Given the description of an element on the screen output the (x, y) to click on. 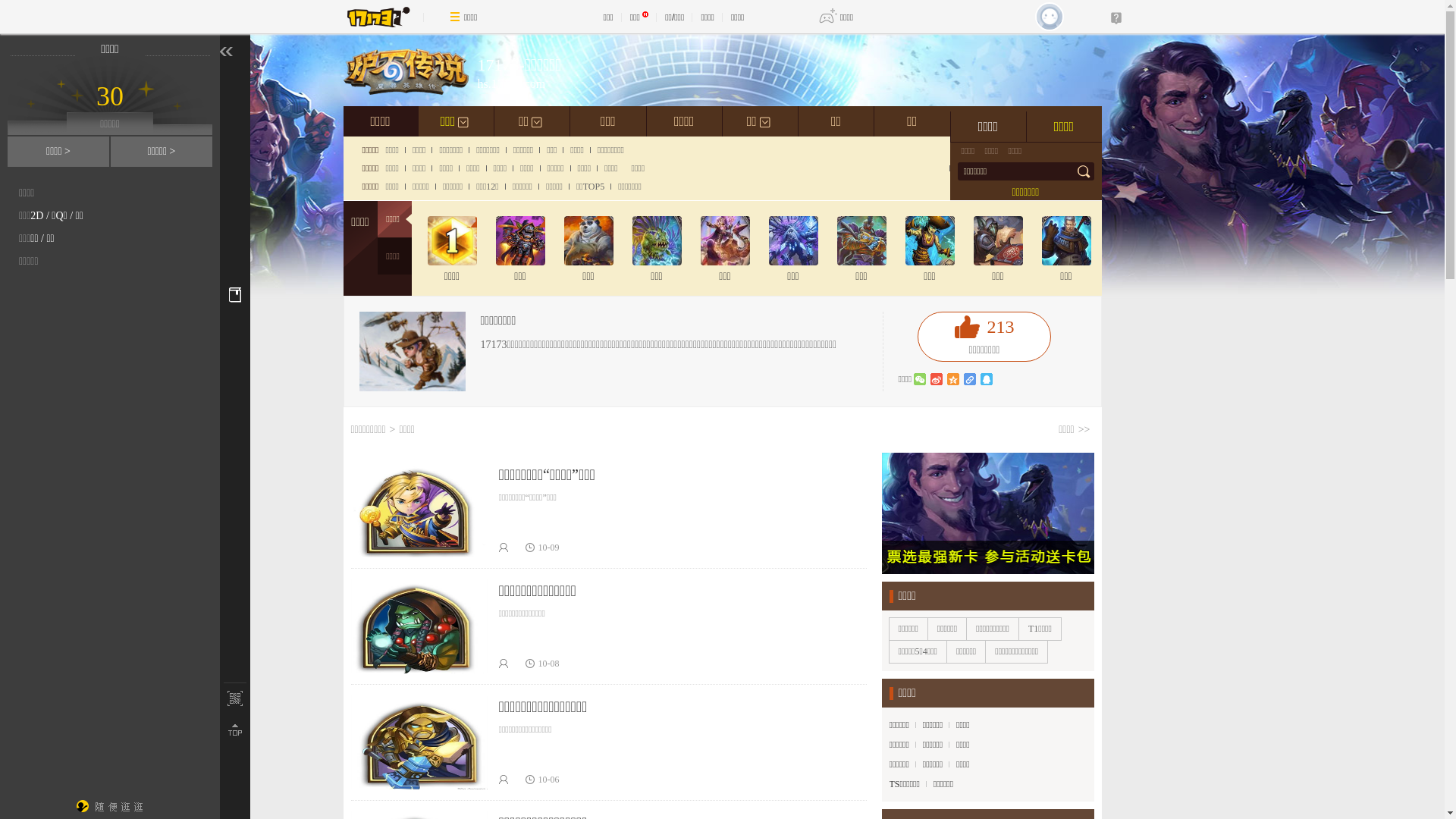
l Element type: text (969, 379)
q Element type: text (986, 379)
z Element type: text (953, 379)
w Element type: text (919, 379)
2D Element type: text (36, 215)
t Element type: text (936, 379)
